Given the description of an element on the screen output the (x, y) to click on. 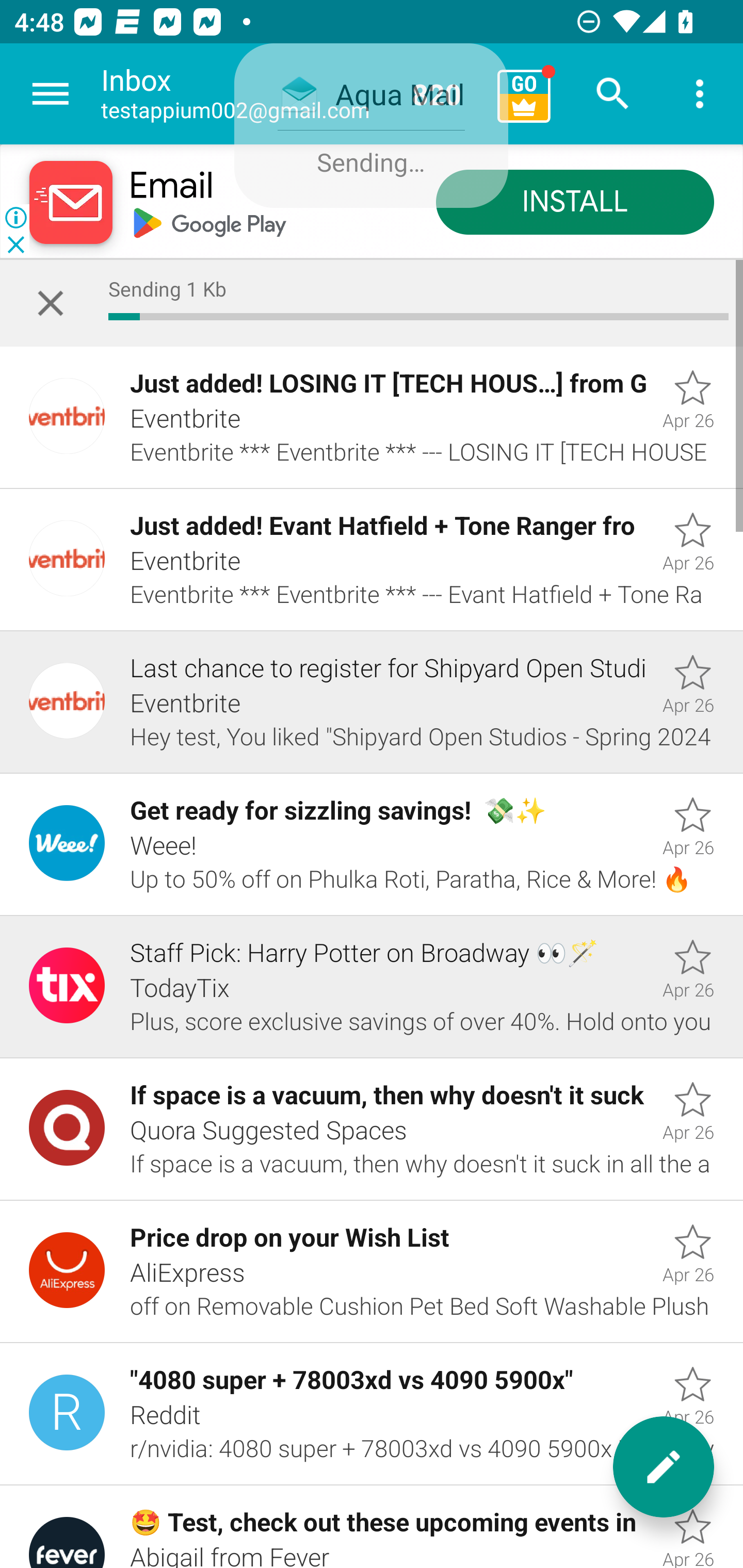
Navigate up (50, 93)
Inbox testappium002@gmail.com 820 (291, 93)
Search (612, 93)
More options (699, 93)
Email (171, 186)
INSTALL (575, 202)
Sending 1 Kb 5.0 (371, 303)
New message (663, 1466)
